Given the description of an element on the screen output the (x, y) to click on. 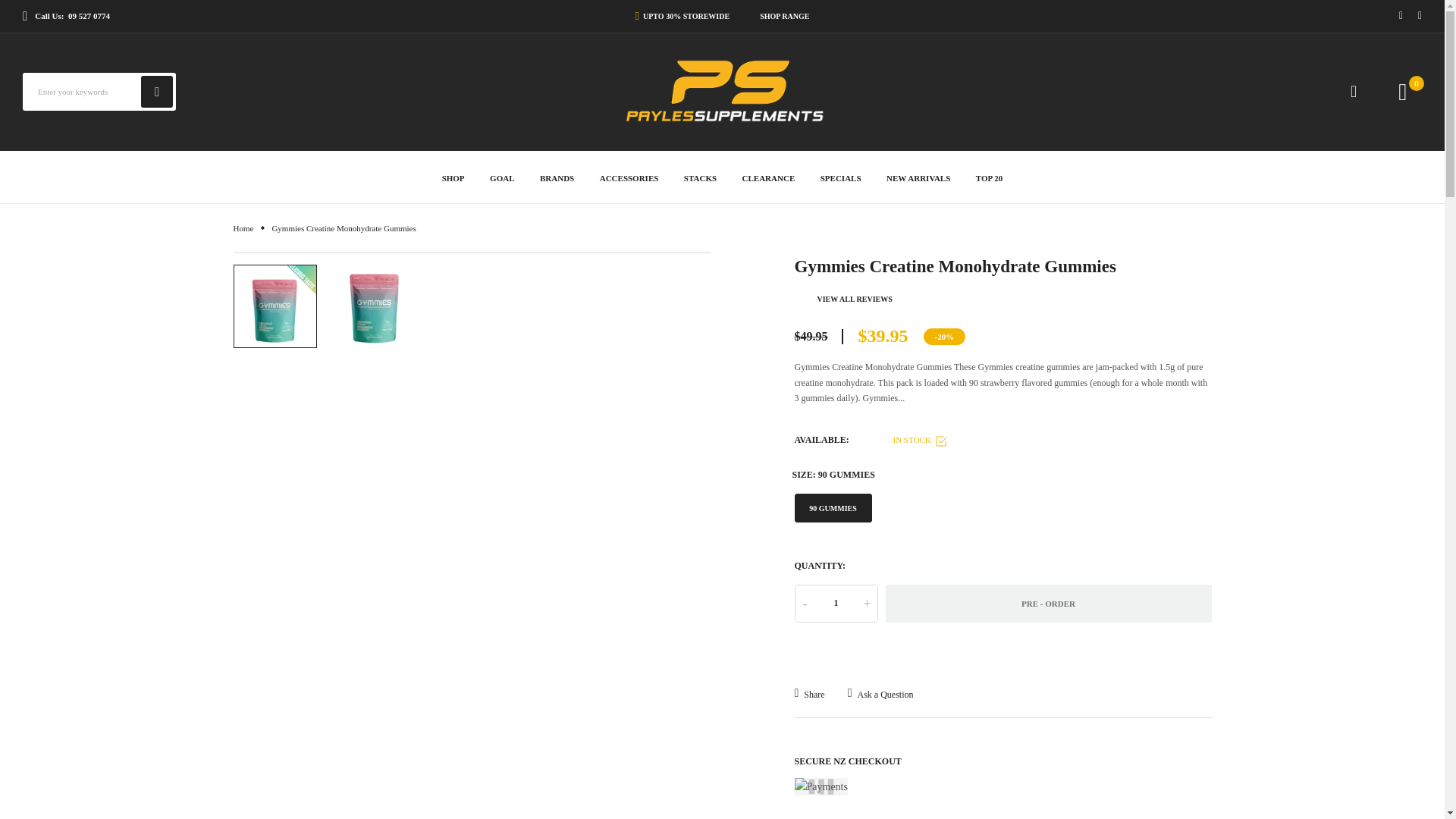
Accessories (629, 176)
Clearance (768, 176)
1 (835, 603)
SHOP RANGE (781, 15)
Search (157, 91)
Account (1354, 91)
Cart (1416, 83)
New Arrivals (918, 176)
